Given the description of an element on the screen output the (x, y) to click on. 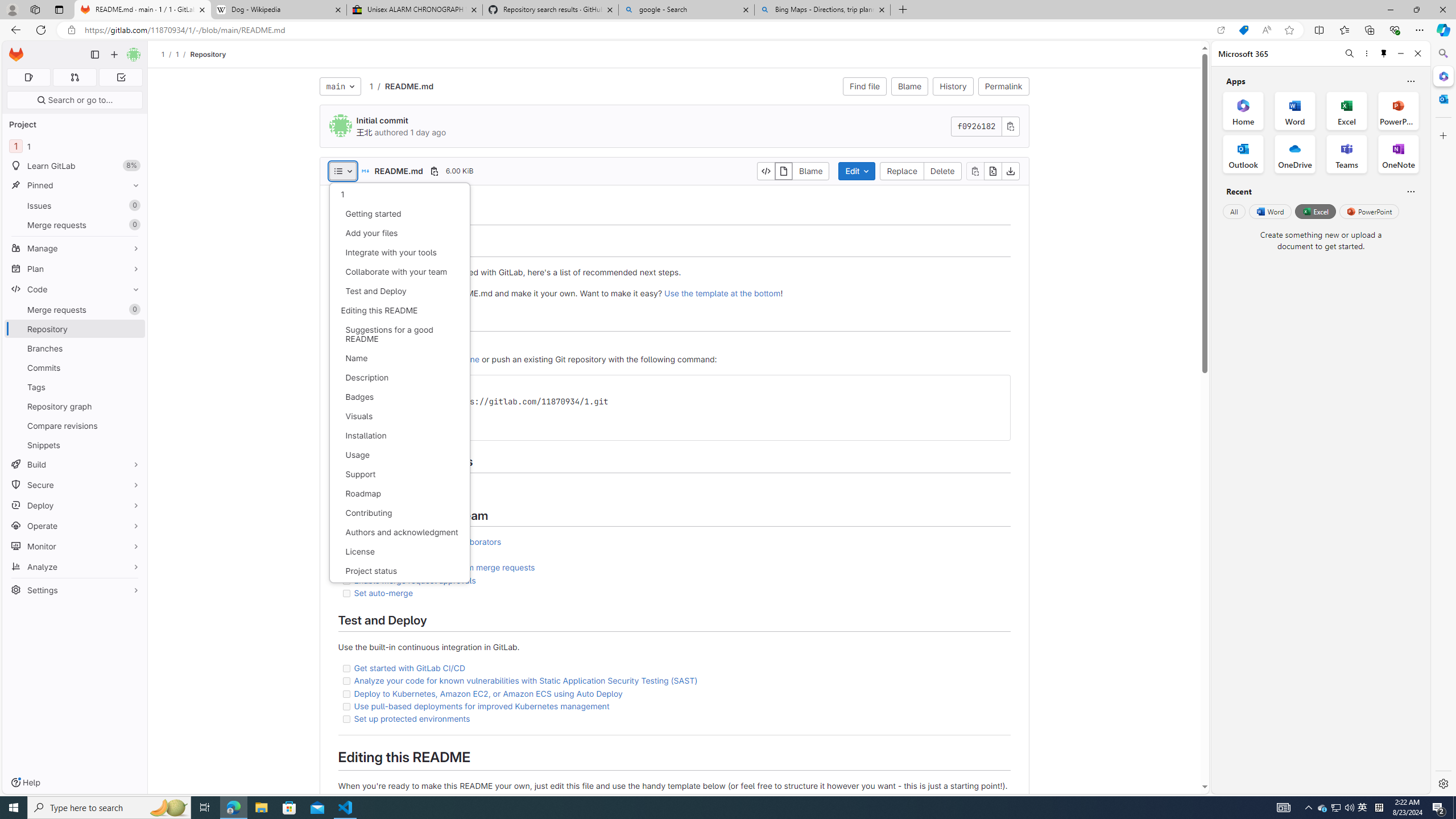
Permalink (1002, 85)
Collaborate with your team (399, 271)
Excel (1315, 210)
Display rendered file (783, 171)
Commits (74, 367)
Class: task-list-item-checkbox (346, 719)
Word (1269, 210)
Integrate with your tools (399, 252)
Description (399, 377)
